Given the description of an element on the screen output the (x, y) to click on. 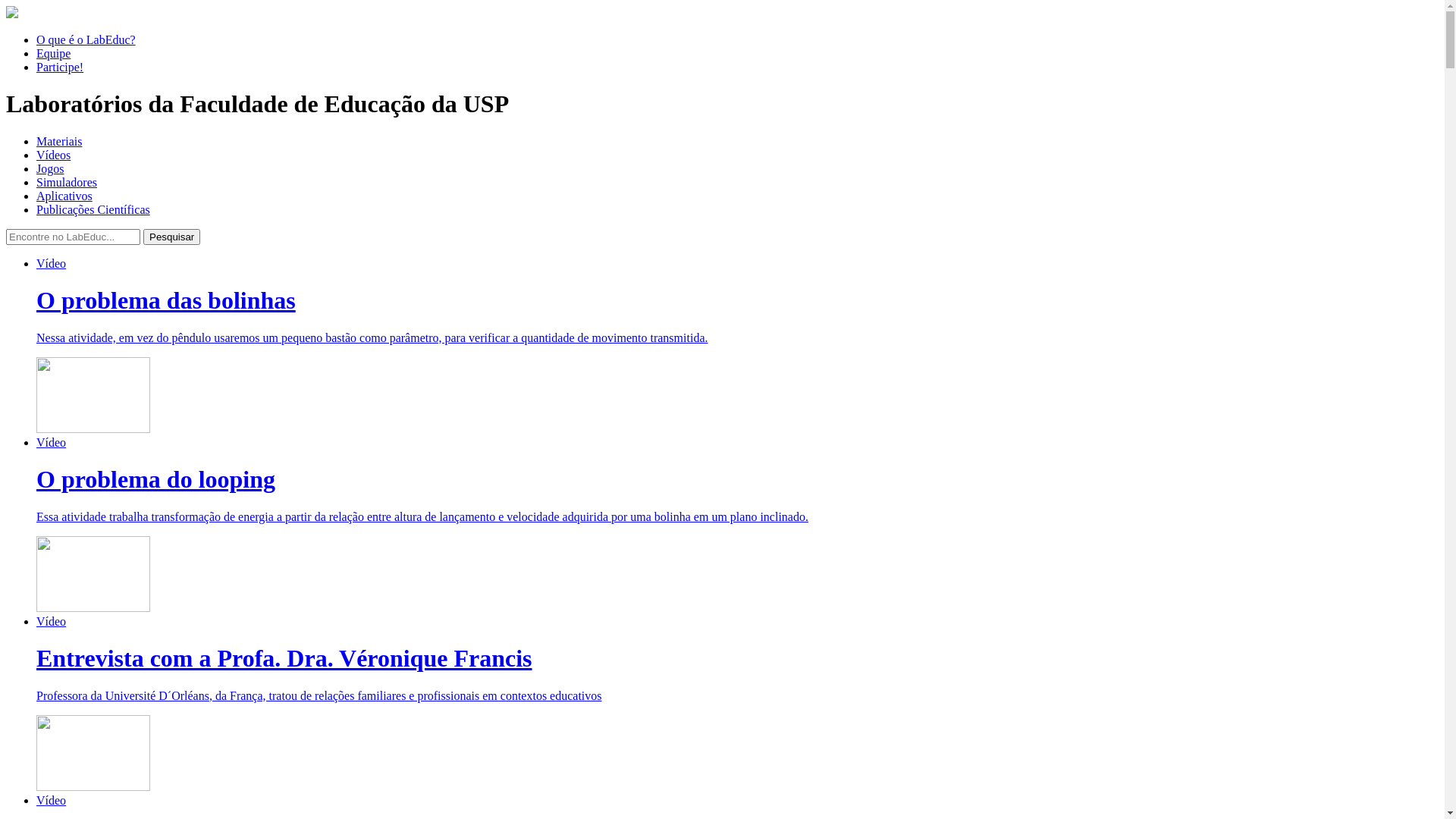
Aplicativos Element type: text (64, 195)
Jogos Element type: text (49, 168)
Pesquisar Element type: text (171, 236)
Materiais Element type: text (58, 140)
Simuladores Element type: text (66, 181)
Equipe Element type: text (53, 53)
Participe! Element type: text (59, 66)
